Given the description of an element on the screen output the (x, y) to click on. 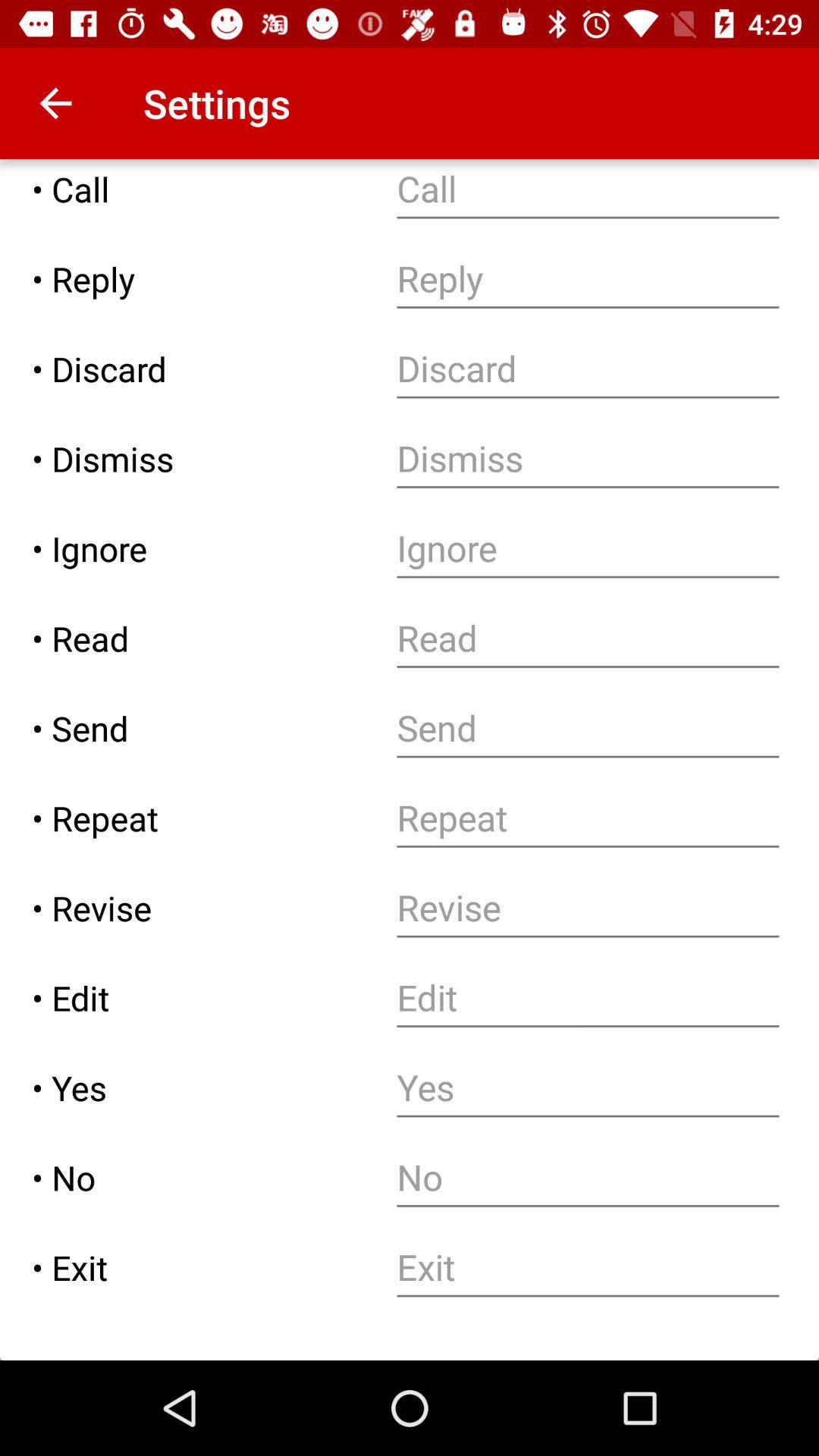
select text box for discard (588, 369)
